Given the description of an element on the screen output the (x, y) to click on. 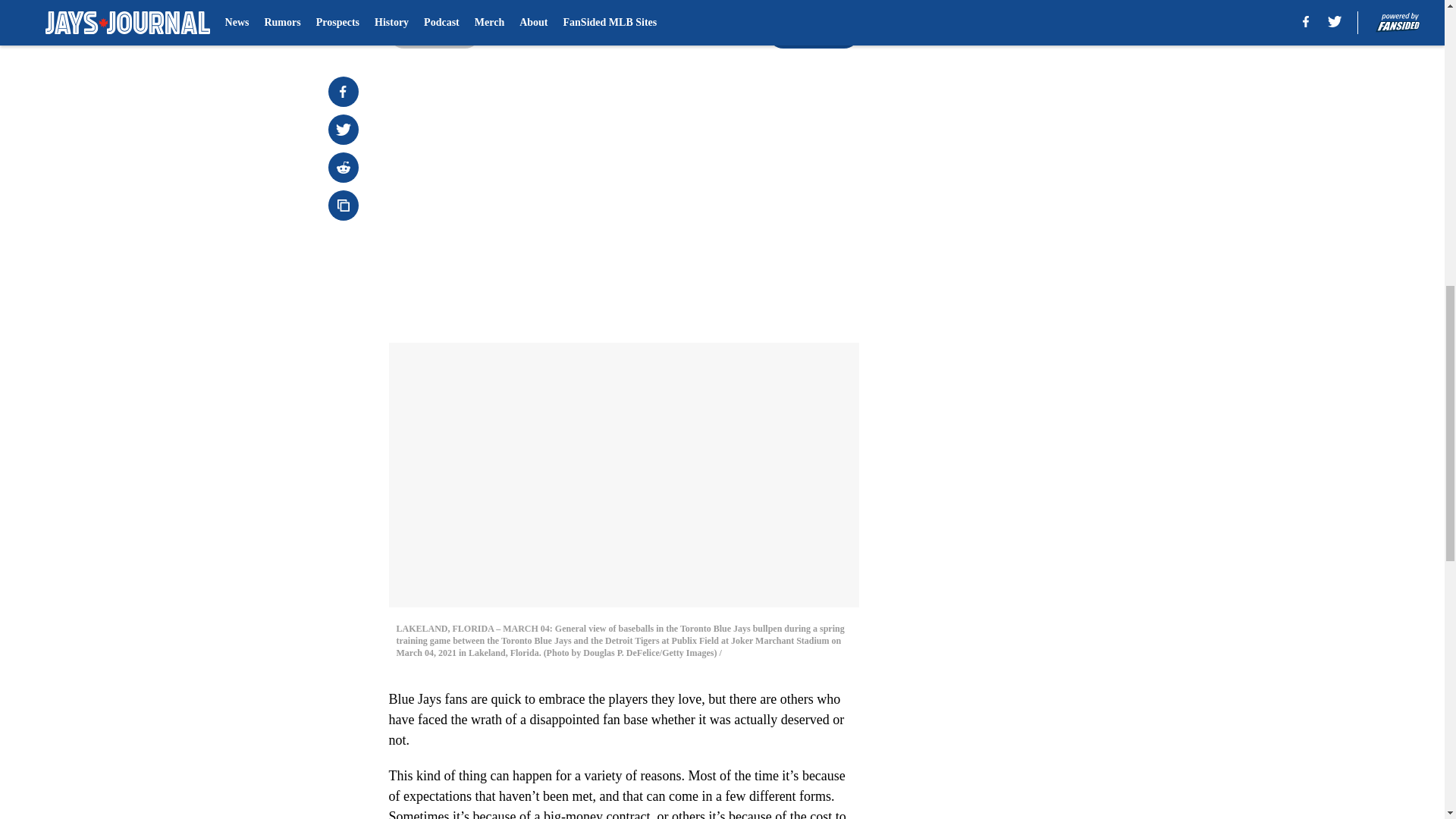
Next (813, 33)
Prev (433, 33)
